Given the description of an element on the screen output the (x, y) to click on. 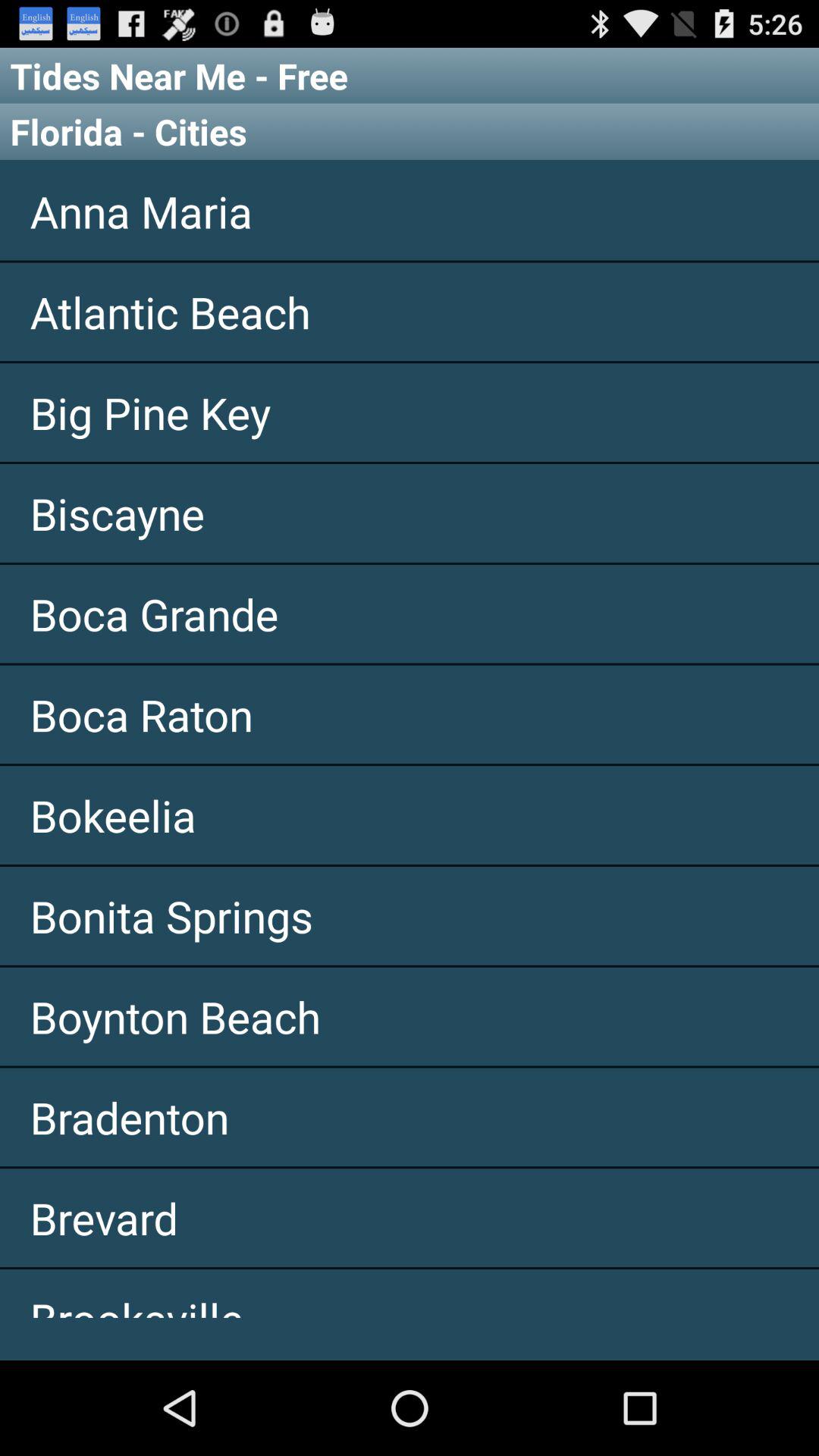
choose app below the boca raton app (409, 815)
